Given the description of an element on the screen output the (x, y) to click on. 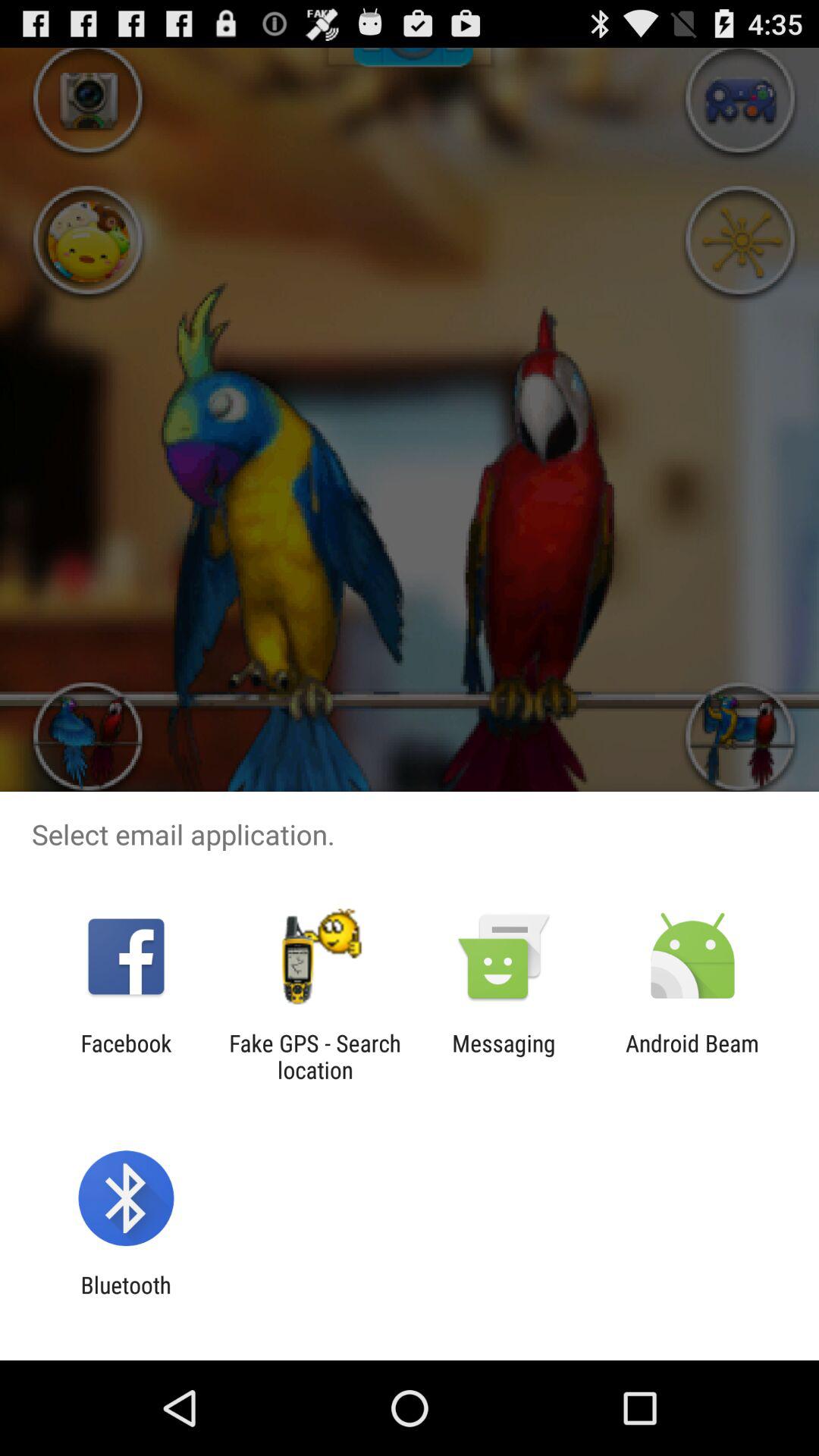
turn off icon next to the android beam icon (503, 1056)
